Given the description of an element on the screen output the (x, y) to click on. 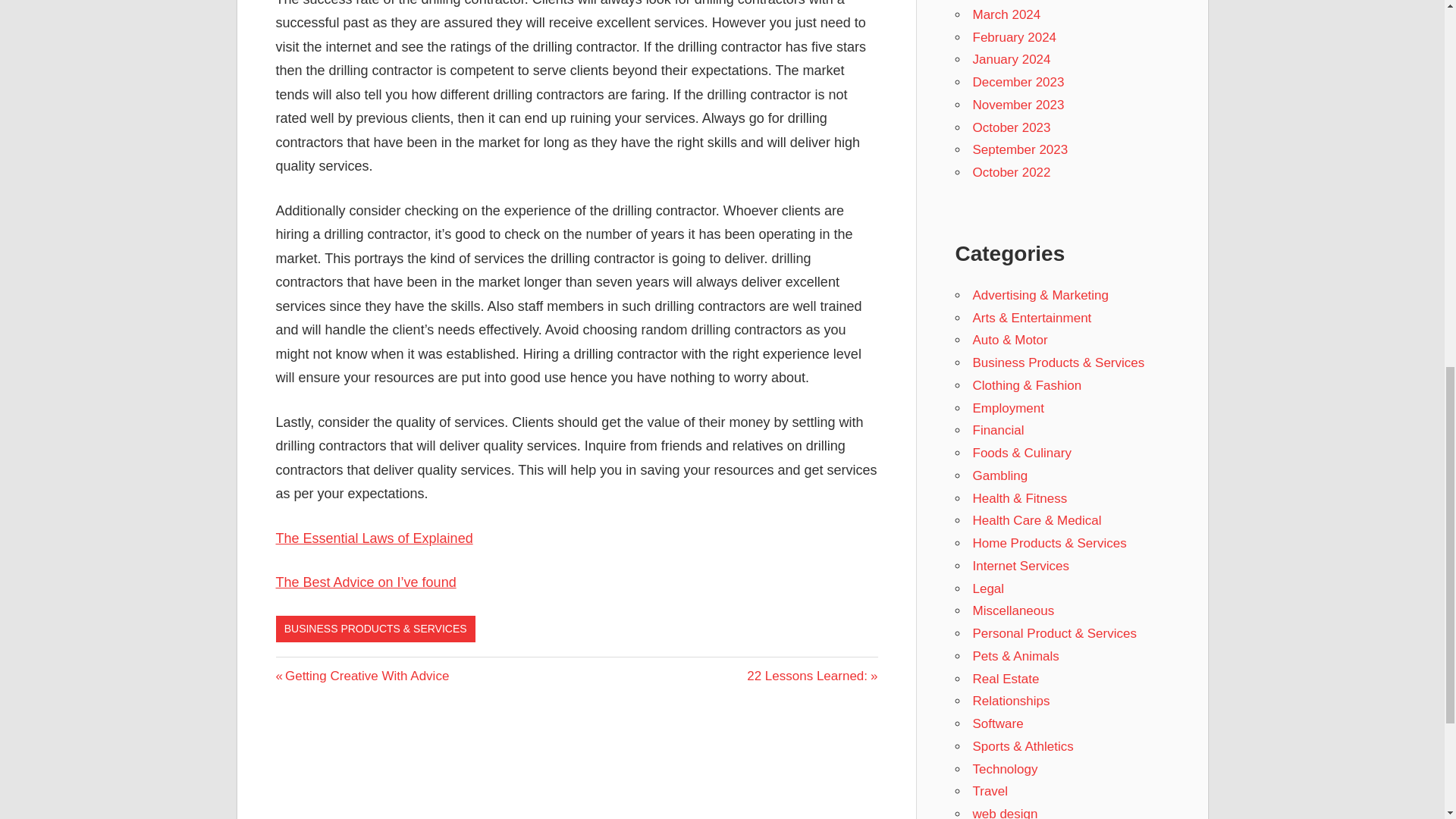
Financial (362, 676)
March 2024 (997, 430)
October 2022 (1006, 14)
January 2024 (1010, 172)
Internet Services (1010, 59)
November 2023 (811, 676)
Gambling (1020, 565)
October 2023 (1018, 104)
February 2024 (999, 475)
Employment (1010, 127)
The Essential Laws of Explained (1014, 37)
December 2023 (1007, 408)
September 2023 (374, 538)
